Given the description of an element on the screen output the (x, y) to click on. 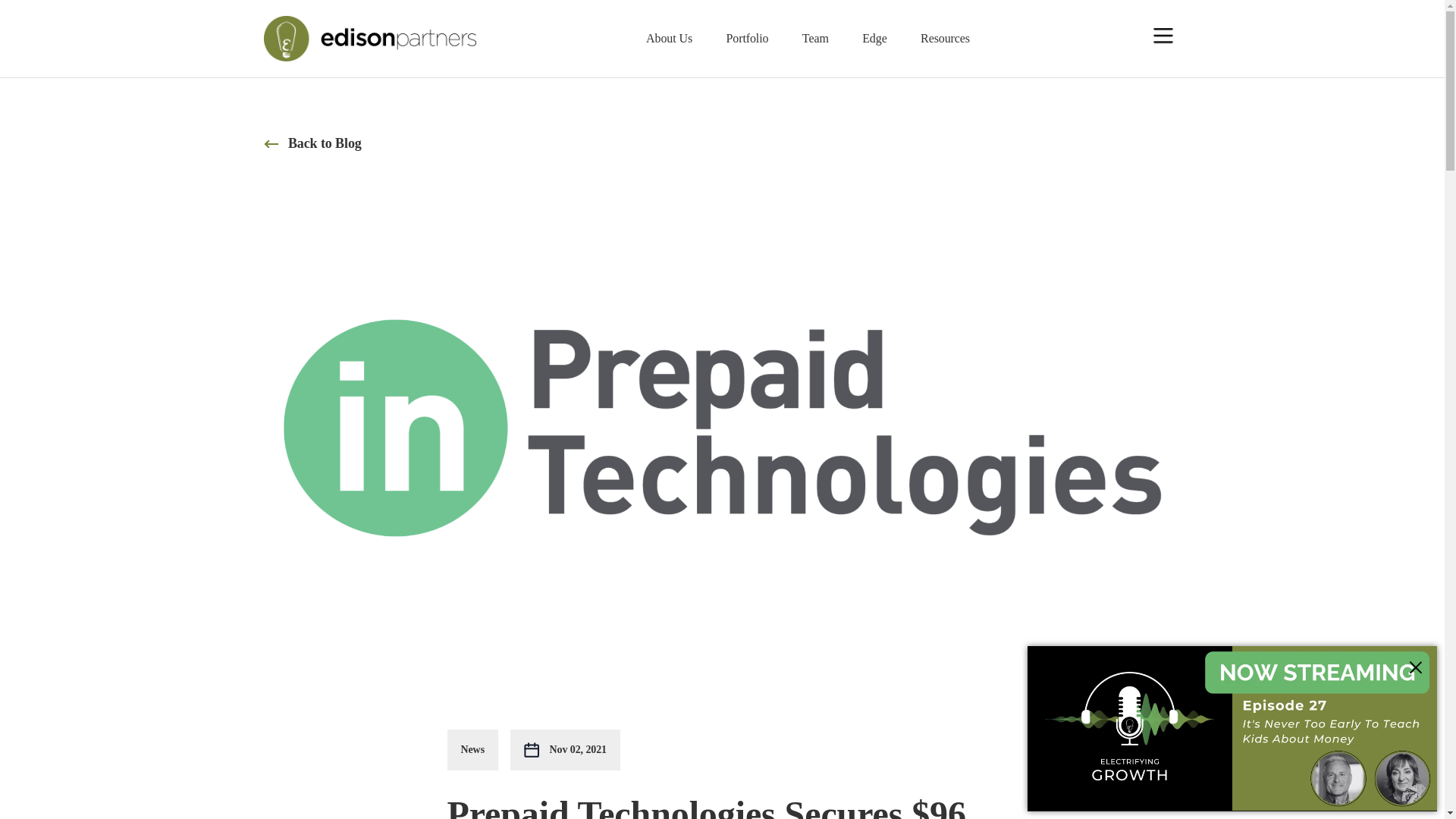
About Us (669, 38)
Edge (873, 38)
Resources (944, 38)
News (478, 749)
Back to Blog (312, 142)
Team (815, 38)
Portfolio (746, 38)
Popup CTA (1232, 728)
